Given the description of an element on the screen output the (x, y) to click on. 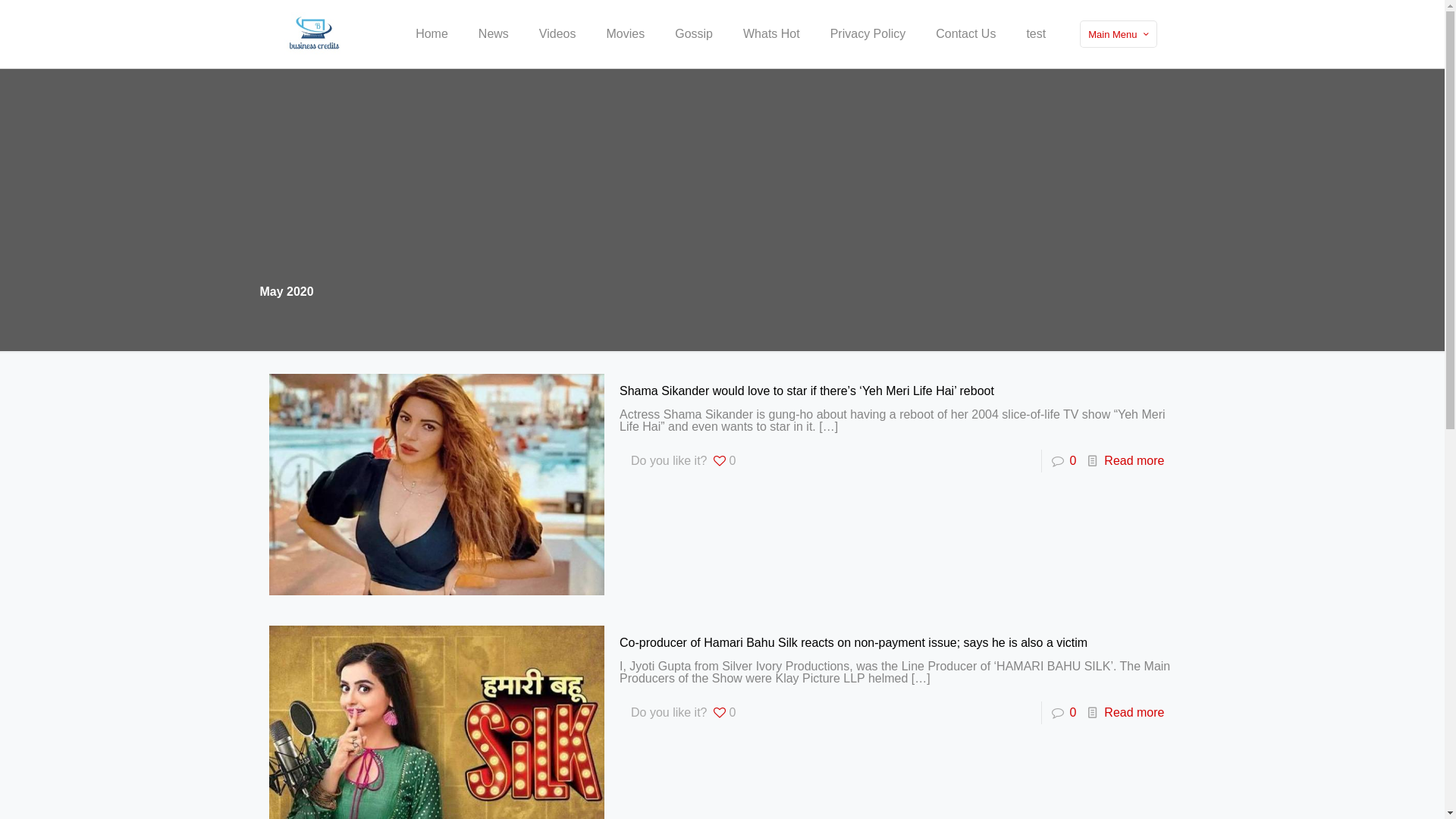
Read more Element type: text (1134, 712)
0 Element type: text (723, 712)
0 Element type: text (1073, 712)
Videos Element type: text (557, 34)
Gossip Element type: text (693, 34)
Television News Element type: hover (312, 34)
0 Element type: text (1073, 460)
Read more Element type: text (1134, 460)
Home Element type: text (431, 34)
Main Menu Element type: text (1117, 33)
Privacy Policy Element type: text (868, 34)
0 Element type: text (723, 460)
Movies Element type: text (625, 34)
Whats Hot Element type: text (771, 34)
test Element type: text (1035, 34)
Contact Us Element type: text (965, 34)
News Element type: text (493, 34)
